Given the description of an element on the screen output the (x, y) to click on. 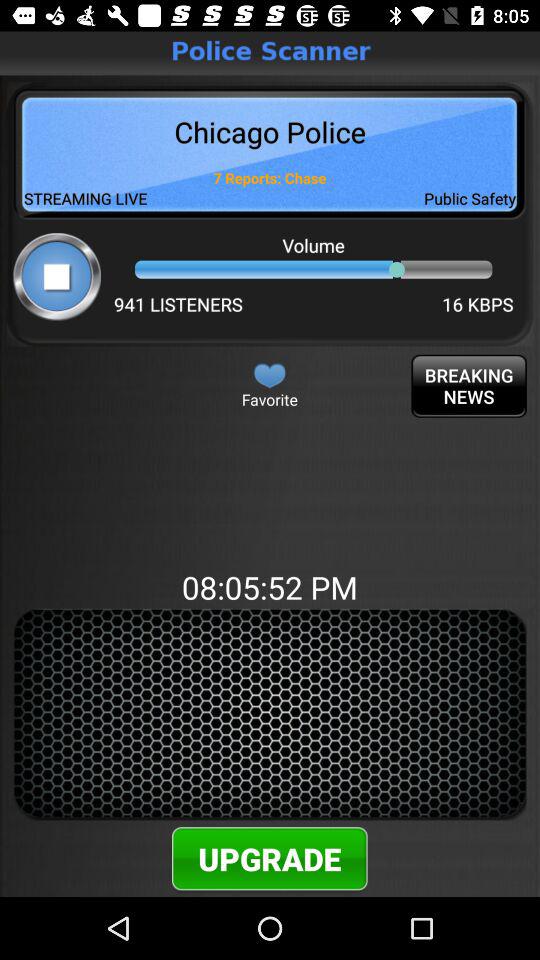
favorite this (269, 375)
